Given the description of an element on the screen output the (x, y) to click on. 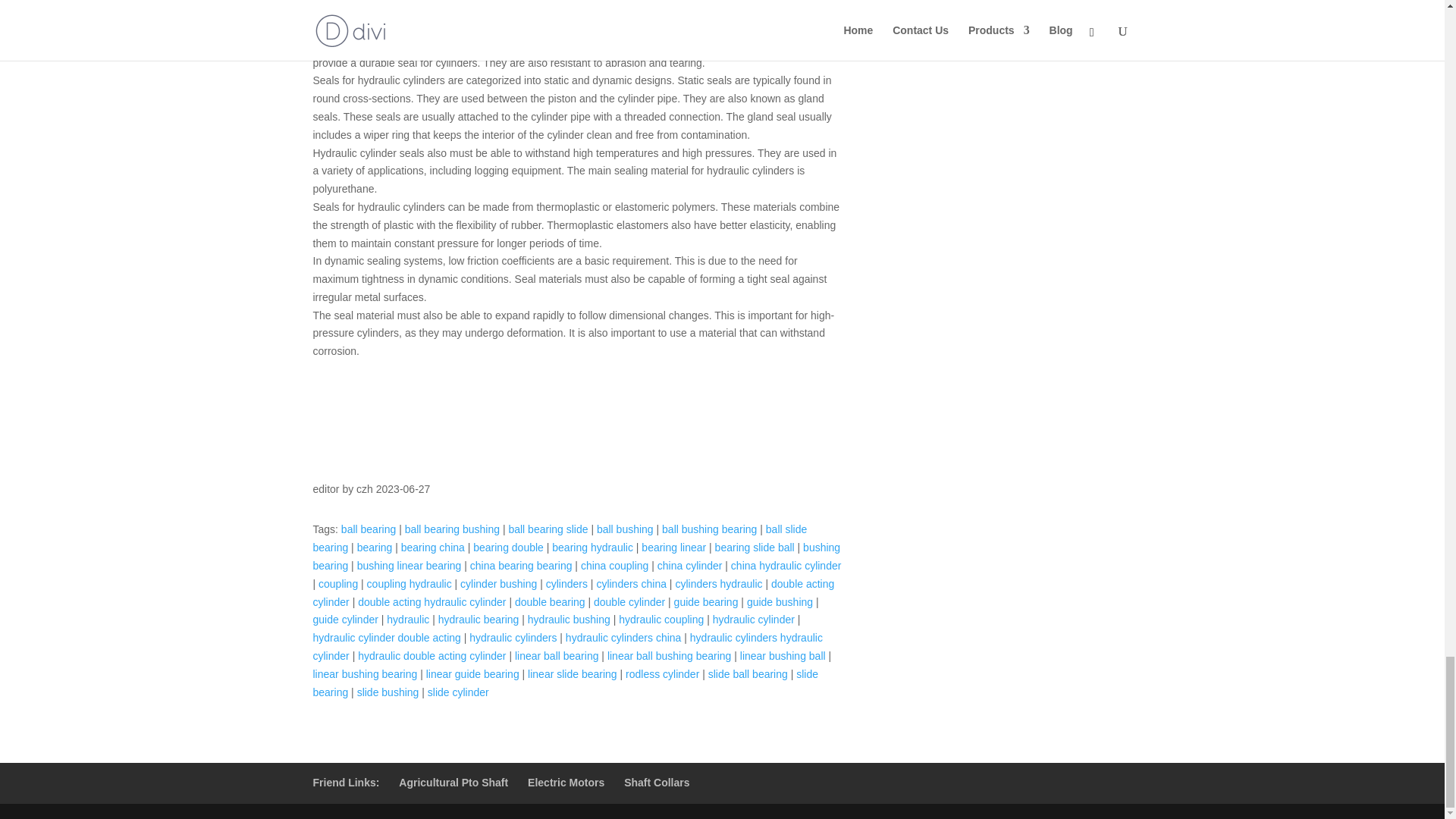
double acting hydraulic cylinder (431, 602)
cylinders hydraulic (718, 583)
bearing linear (674, 547)
ball bearing bushing (451, 529)
ball bushing bearing (709, 529)
china bearing bearing (521, 565)
bearing slide ball (754, 547)
ball bearing slide (548, 529)
bearing double (508, 547)
coupling hydraulic (408, 583)
double bearing (550, 602)
coupling (338, 583)
china hydraulic cylinder (785, 565)
bushing linear bearing (408, 565)
ball bushing (624, 529)
